Given the description of an element on the screen output the (x, y) to click on. 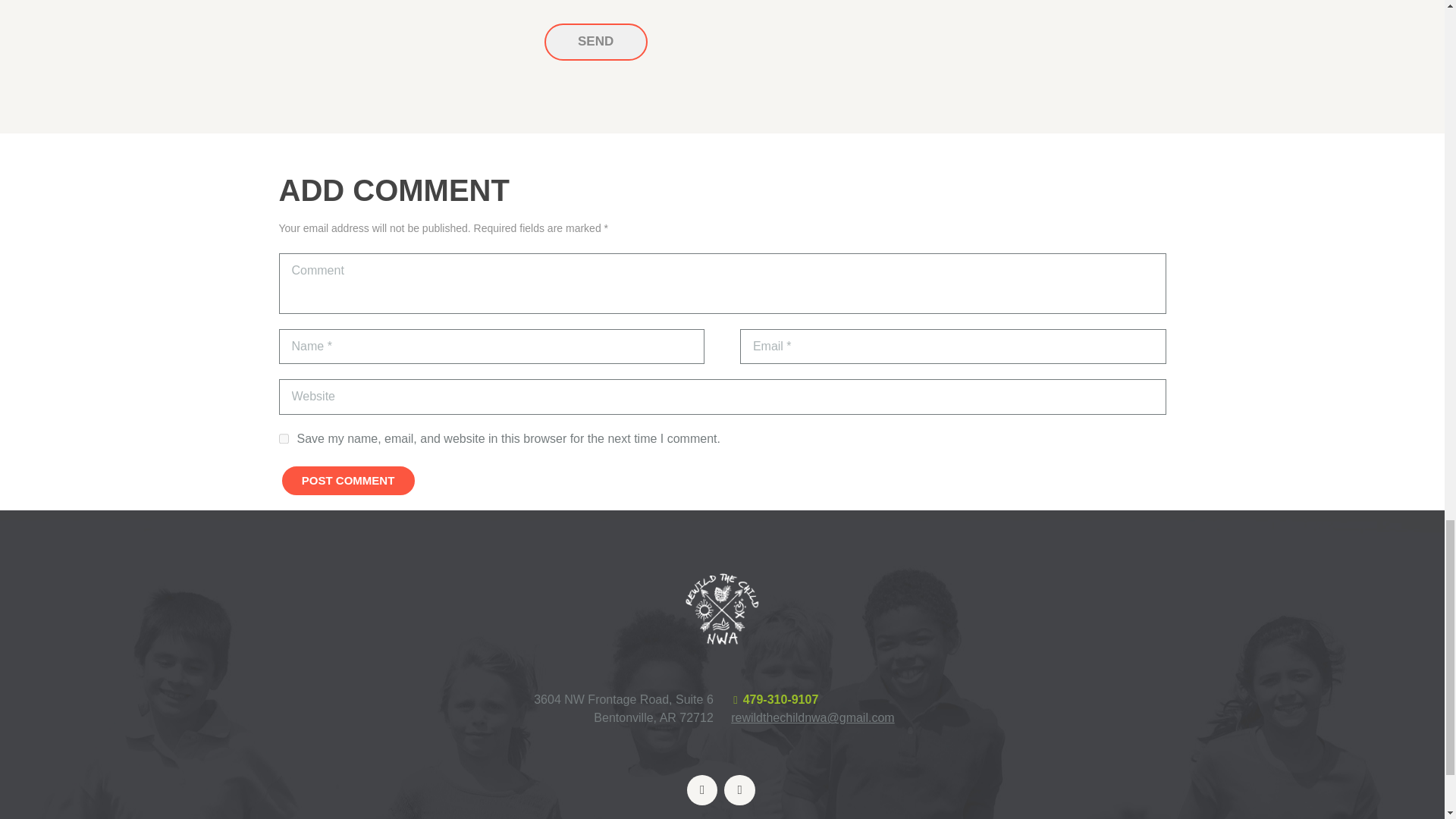
479-310-9107 (780, 698)
Post Comment (348, 480)
Post Comment (348, 480)
yes (283, 438)
SEND (595, 41)
